Given the description of an element on the screen output the (x, y) to click on. 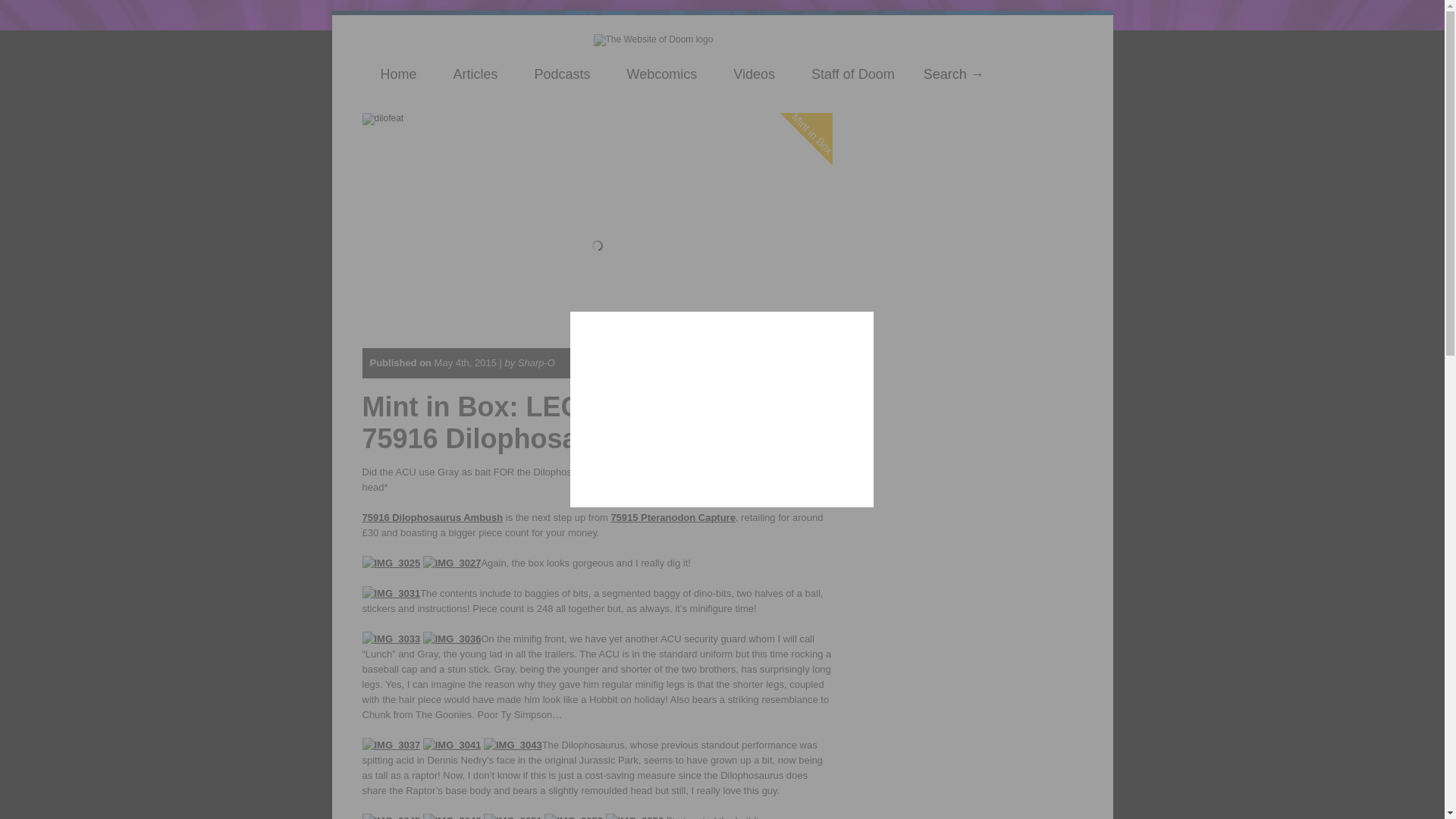
Mint in Box (828, 71)
Home (398, 74)
75915 Pteranodon Capture (672, 517)
Webcomics (662, 74)
Staff of Doom (852, 74)
Articles (475, 74)
Videos (753, 74)
Podcasts (562, 74)
75916 Dilophosaurus Ambush (432, 517)
